Given the description of an element on the screen output the (x, y) to click on. 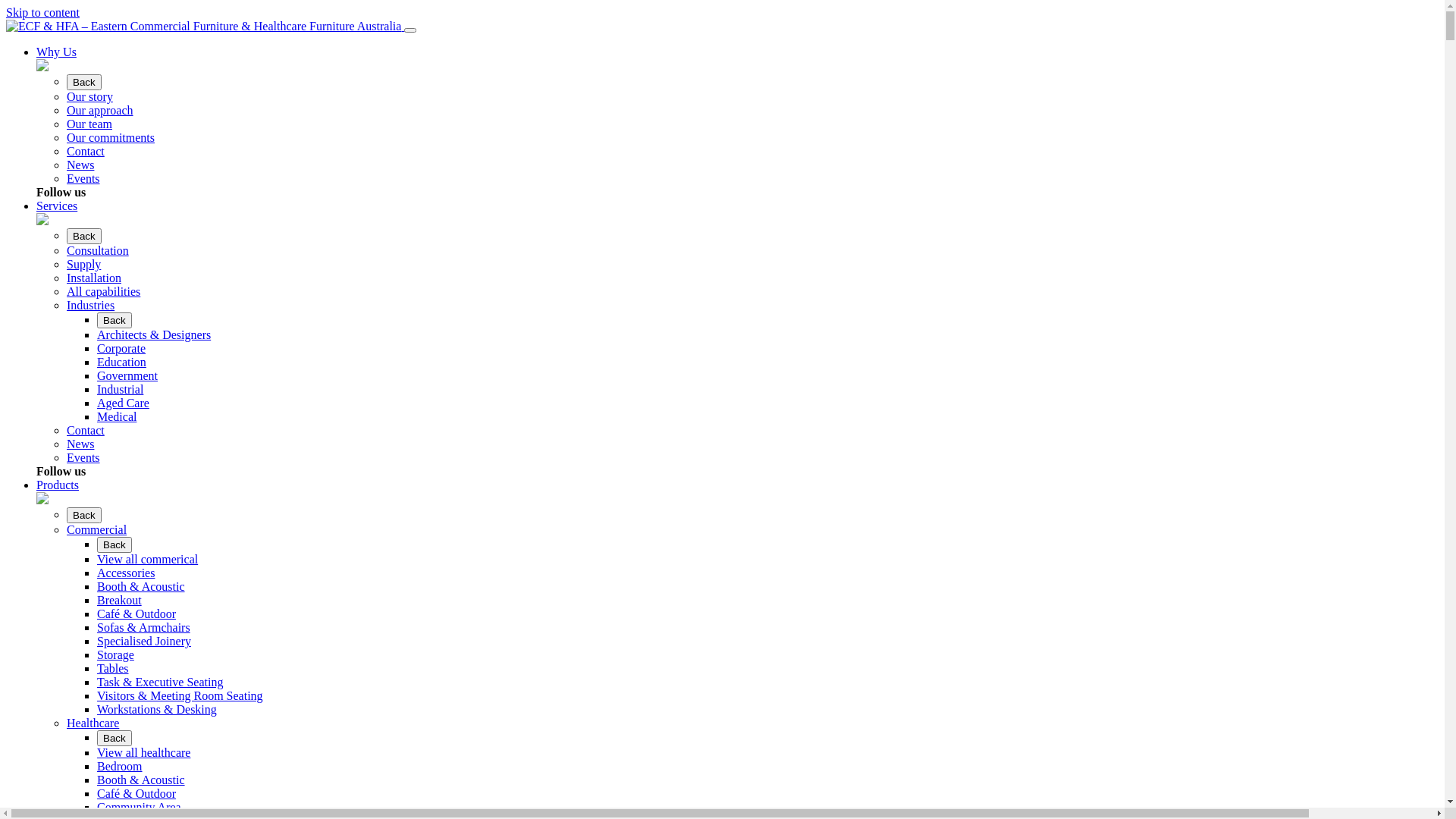
Back Element type: text (114, 738)
Education Element type: text (121, 361)
Products Element type: text (57, 484)
Contact Element type: text (85, 150)
Contact Element type: text (85, 429)
Back Element type: text (114, 544)
Workstations & Desking Element type: text (156, 708)
Corporate Element type: text (121, 348)
Industrial Element type: text (120, 388)
Services Element type: text (56, 205)
All capabilities Element type: text (103, 291)
Our approach Element type: text (99, 109)
Visitors & Meeting Room Seating Element type: text (180, 695)
Task & Executive Seating Element type: text (159, 681)
Aged Care Element type: text (123, 402)
Medical Element type: text (116, 416)
Accessories Element type: text (125, 572)
News Element type: text (80, 443)
Our commitments Element type: text (110, 137)
Booth & Acoustic Element type: text (141, 586)
Commercial Element type: text (96, 529)
Our team Element type: text (89, 123)
Installation Element type: text (93, 277)
Specialised Joinery Element type: text (144, 640)
Architects & Designers Element type: text (153, 334)
Skip to content Element type: text (42, 12)
Events Element type: text (83, 457)
Back Element type: text (83, 515)
Government Element type: text (127, 375)
Booth & Acoustic Element type: text (141, 779)
Community Area Element type: text (139, 806)
Events Element type: text (83, 178)
Supply Element type: text (83, 263)
Close menu Element type: hover (410, 30)
Industries Element type: text (90, 304)
Storage Element type: text (115, 654)
Healthcare Element type: text (92, 722)
Back Element type: text (83, 236)
Sofas & Armchairs Element type: text (143, 627)
Why Us Element type: text (56, 51)
News Element type: text (80, 164)
Back Element type: text (114, 320)
Breakout Element type: text (119, 599)
Consultation Element type: text (97, 250)
Tables Element type: text (112, 668)
View all commerical Element type: text (147, 558)
Our story Element type: text (89, 96)
Bedroom Element type: text (119, 765)
View all healthcare Element type: text (143, 752)
Back Element type: text (83, 82)
